Given the description of an element on the screen output the (x, y) to click on. 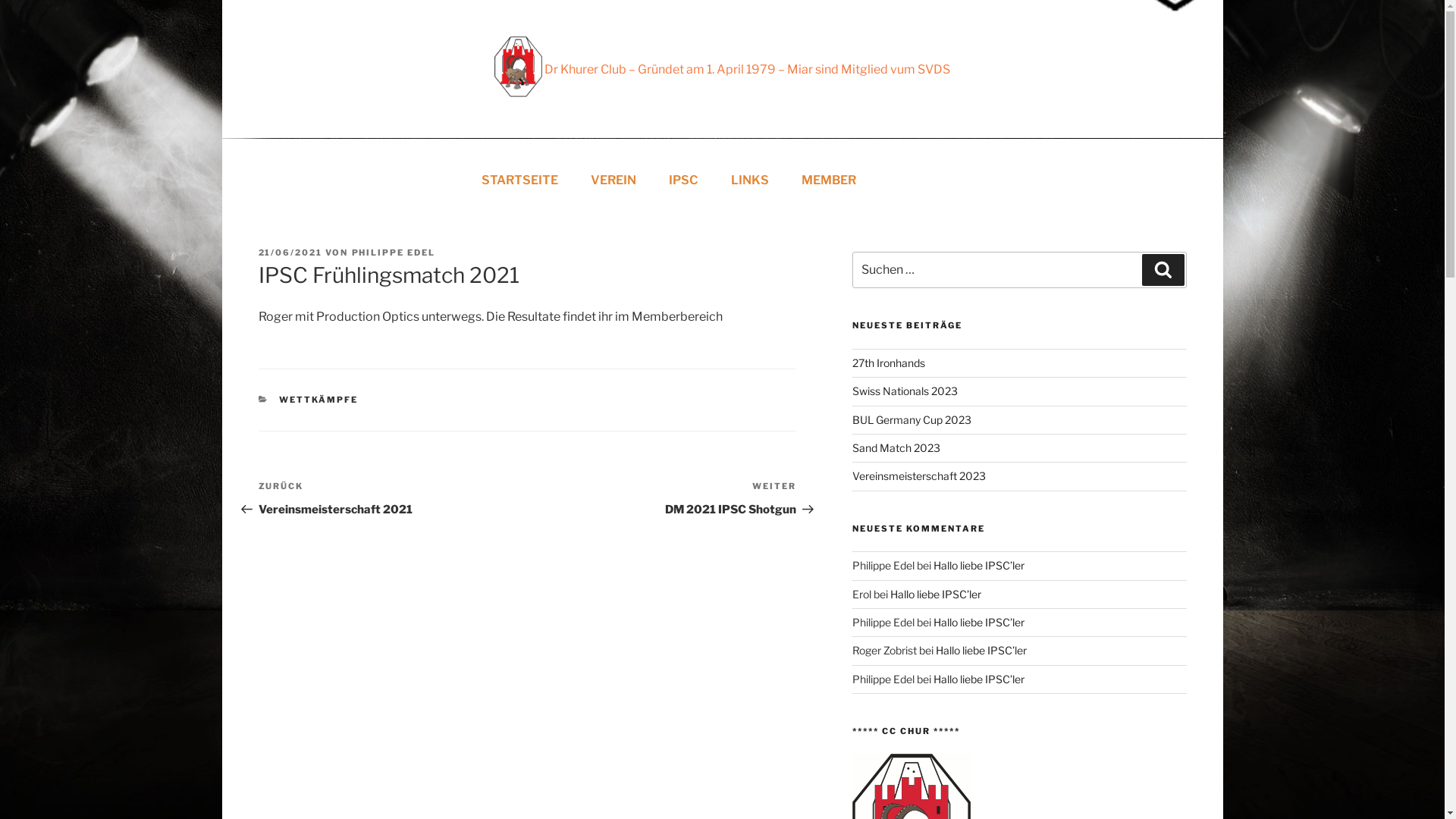
VEREIN Element type: text (612, 180)
IPSC Element type: text (683, 180)
MEMBER Element type: text (827, 180)
Vereinsmeisterschaft 2023 Element type: text (918, 475)
27th Ironhands Element type: text (888, 362)
BUL Germany Cup 2023 Element type: text (911, 419)
21/06/2021 Element type: text (289, 252)
Suchen Element type: text (1163, 269)
STARTSEITE Element type: text (518, 180)
LINKS Element type: text (749, 180)
Sand Match 2023 Element type: text (896, 447)
Swiss Nationals 2023 Element type: text (904, 390)
PHILIPPE EDEL Element type: text (393, 252)
